Given the description of an element on the screen output the (x, y) to click on. 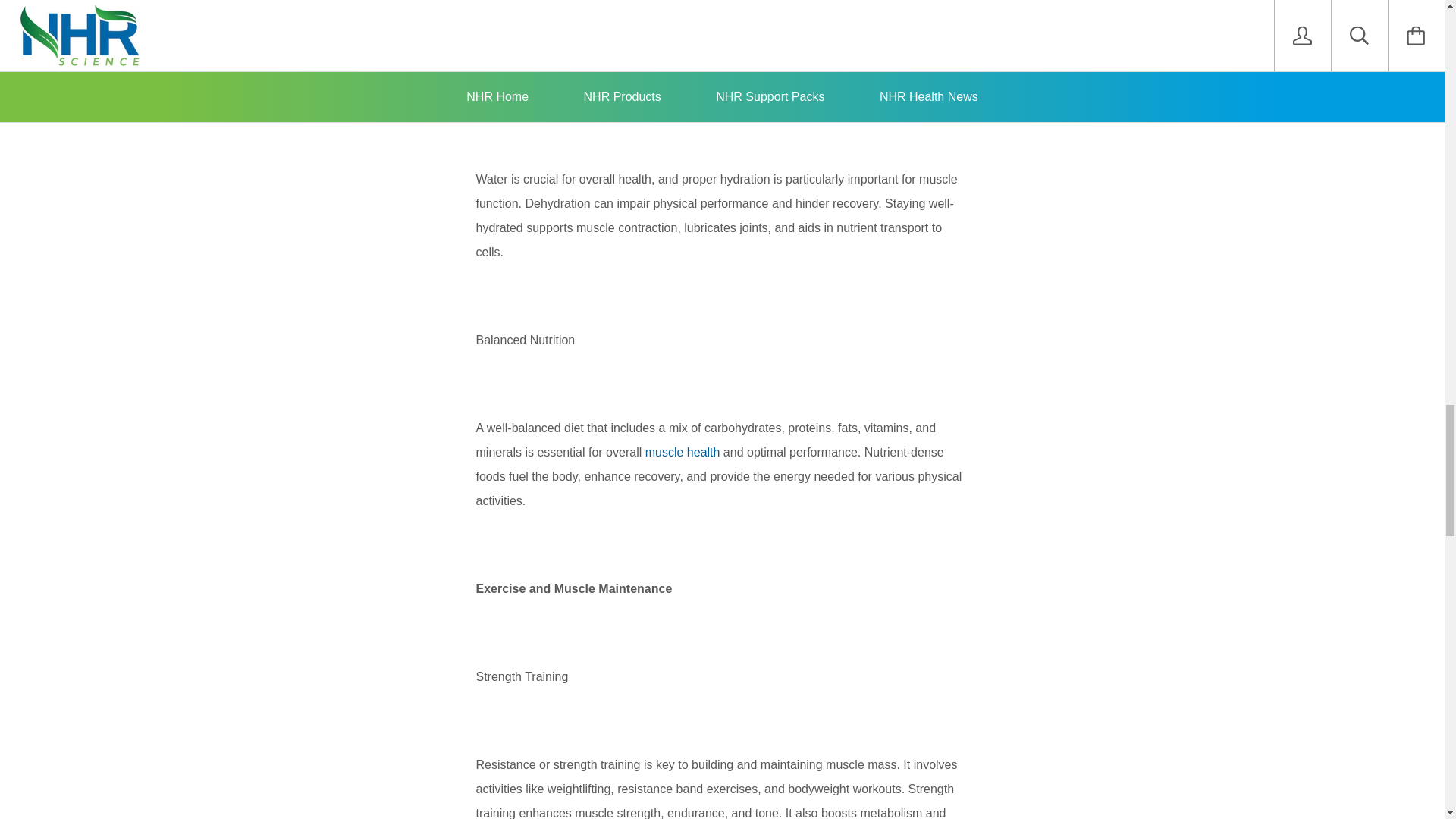
muscle health (682, 451)
muscle health (682, 451)
